Given the description of an element on the screen output the (x, y) to click on. 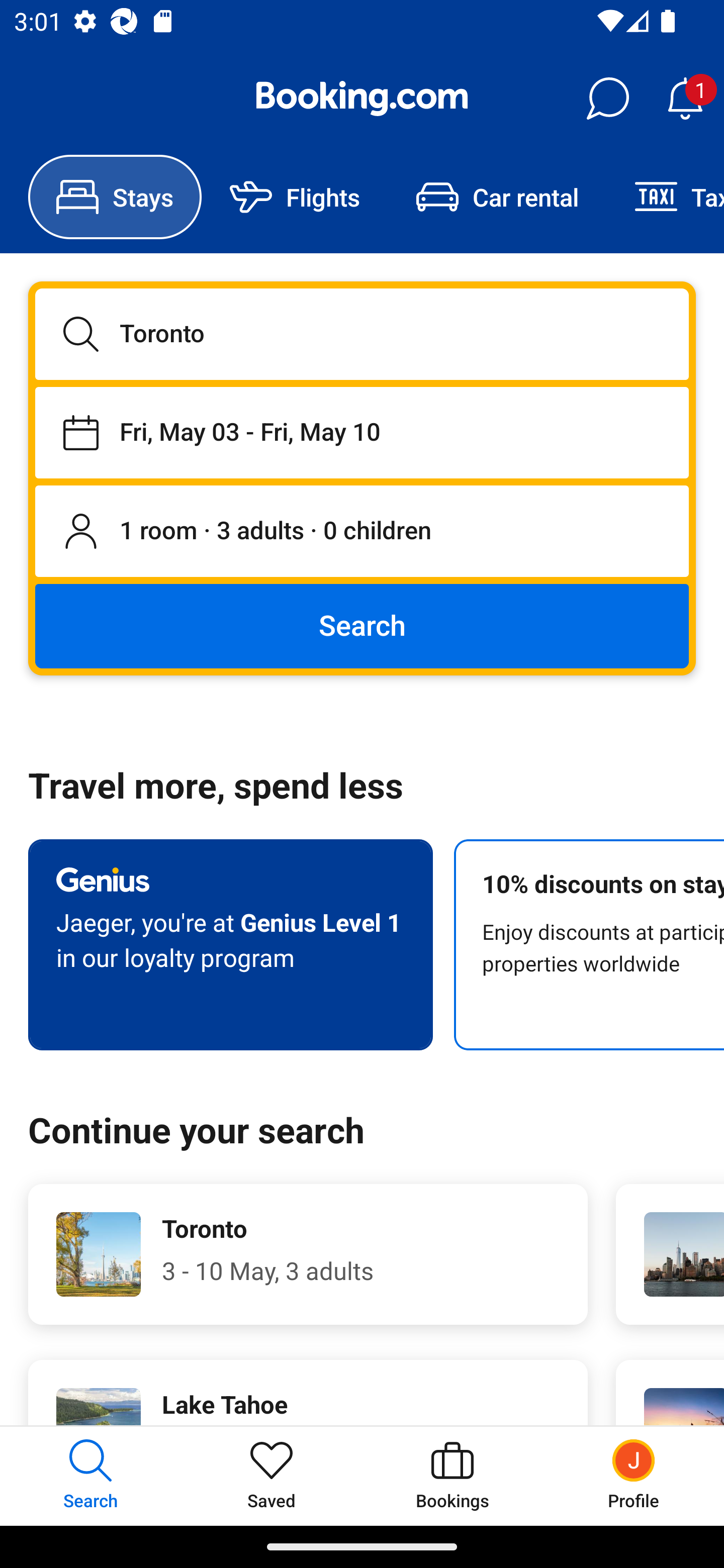
Messages (607, 98)
Notifications (685, 98)
Stays (114, 197)
Flights (294, 197)
Car rental (497, 197)
Taxi (665, 197)
Toronto (361, 333)
Staying from Fri, May 03 until Fri, May 10 (361, 432)
1 room, 3 adults, 0 children (361, 531)
Search (361, 625)
Toronto 3 - 10 May, 3 adults (307, 1253)
Saved (271, 1475)
Bookings (452, 1475)
Profile (633, 1475)
